Given the description of an element on the screen output the (x, y) to click on. 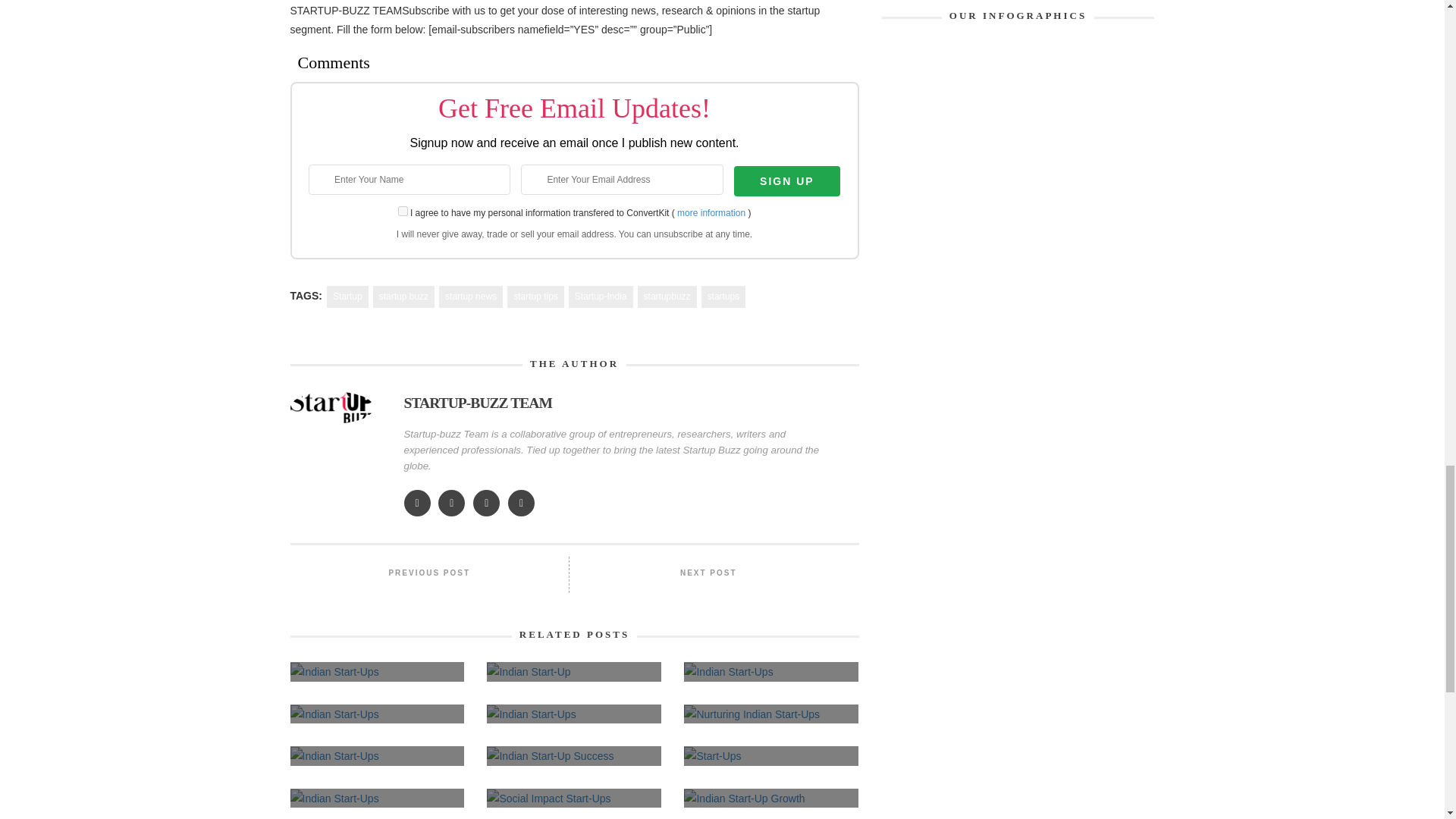
SIGN UP (786, 181)
on (402, 211)
